Given the description of an element on the screen output the (x, y) to click on. 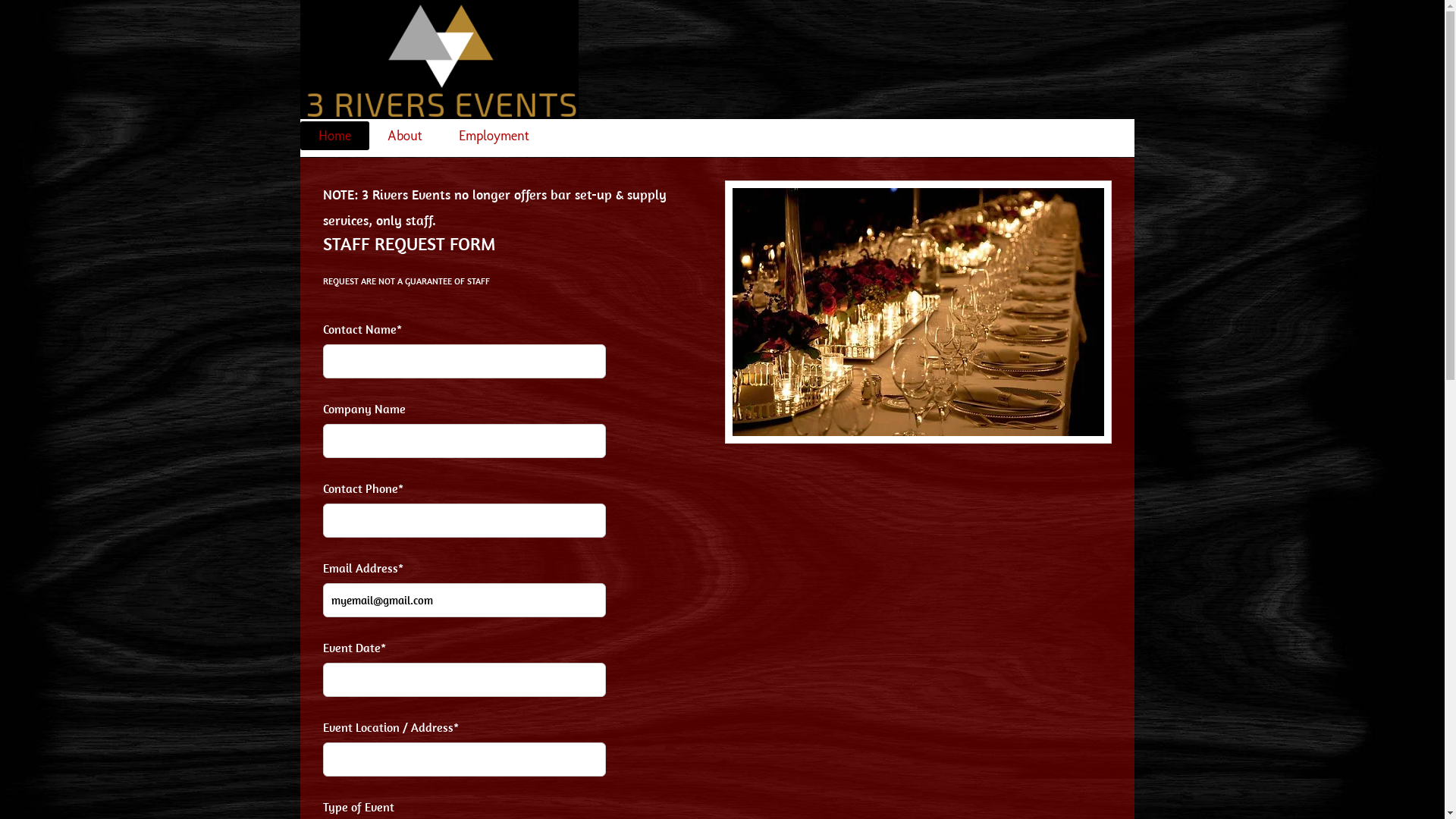
Home Element type: text (334, 135)
About Element type: text (403, 135)
Employment Element type: text (492, 135)
